Given the description of an element on the screen output the (x, y) to click on. 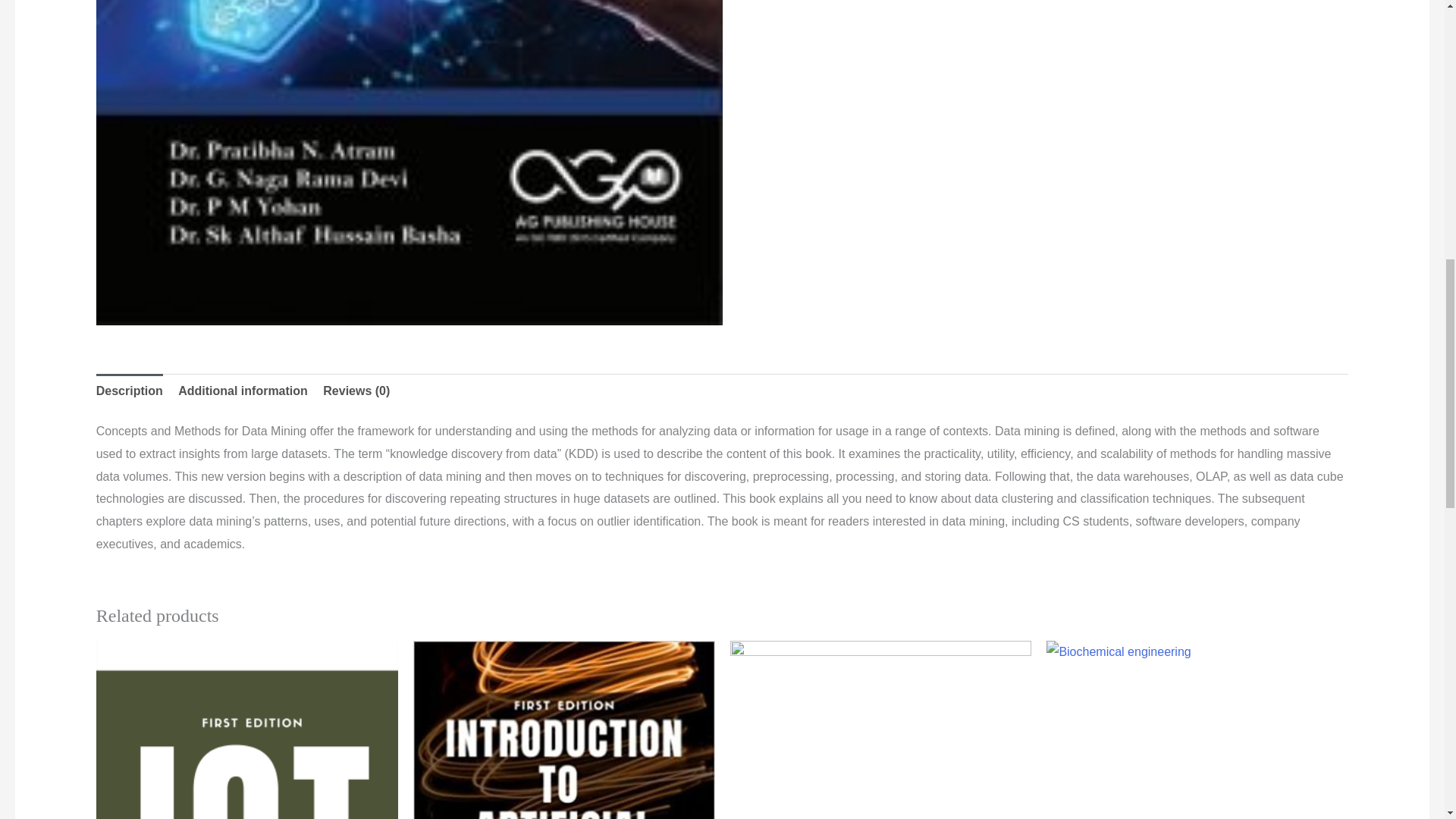
Description (129, 390)
Additional information (242, 390)
